Given the description of an element on the screen output the (x, y) to click on. 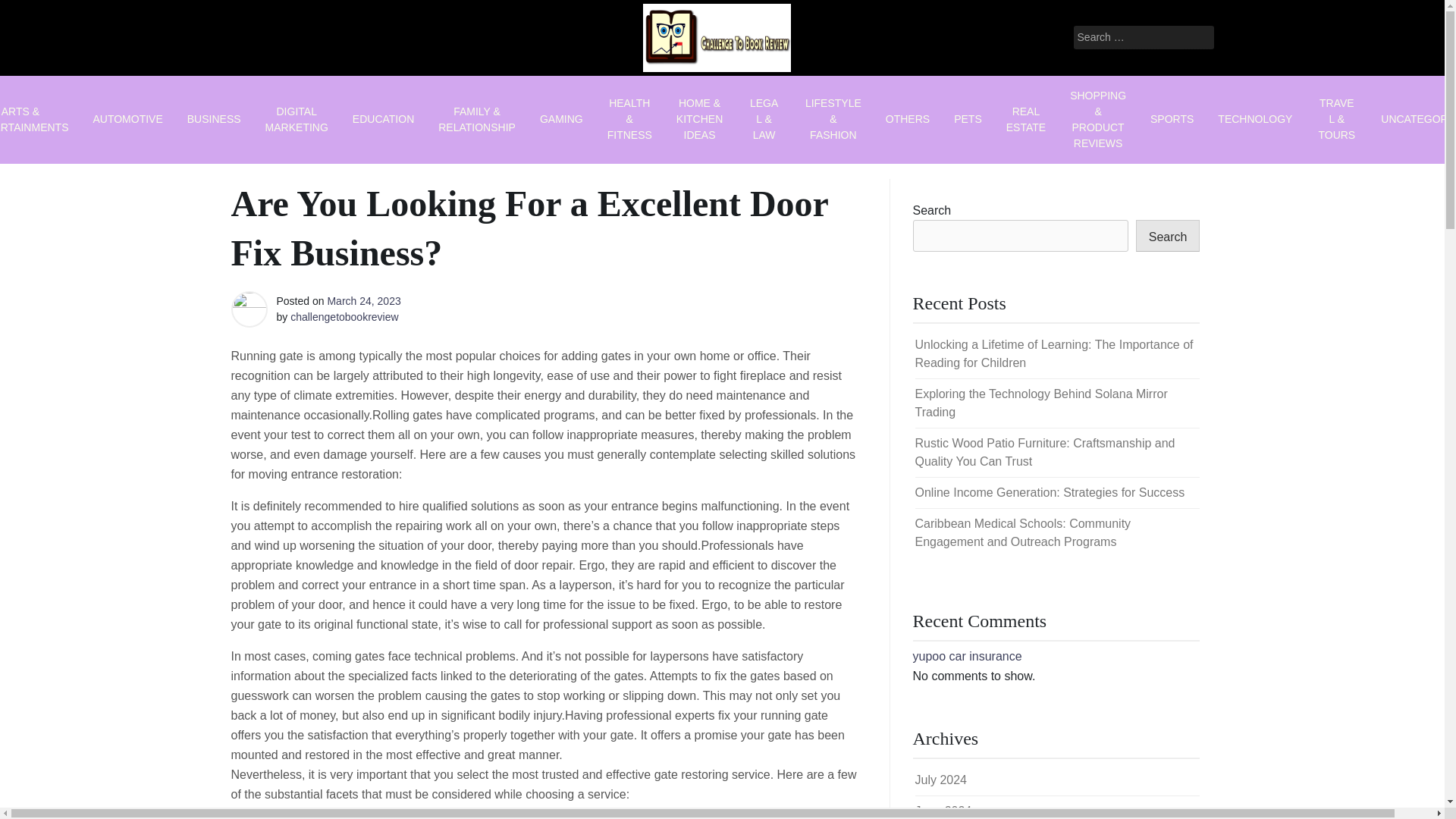
GAMING (561, 119)
OTHERS (907, 119)
PETS (968, 119)
UNCATEGORIZED (1412, 119)
car insurance (985, 656)
AUTOMOTIVE (127, 119)
Exploring the Technology Behind Solana Mirror Trading (1040, 402)
Search (1167, 235)
March 24, 2023 (363, 300)
yupoo (929, 656)
EDUCATION (383, 119)
challengetobookreview (343, 316)
SPORTS (1171, 119)
